Given the description of an element on the screen output the (x, y) to click on. 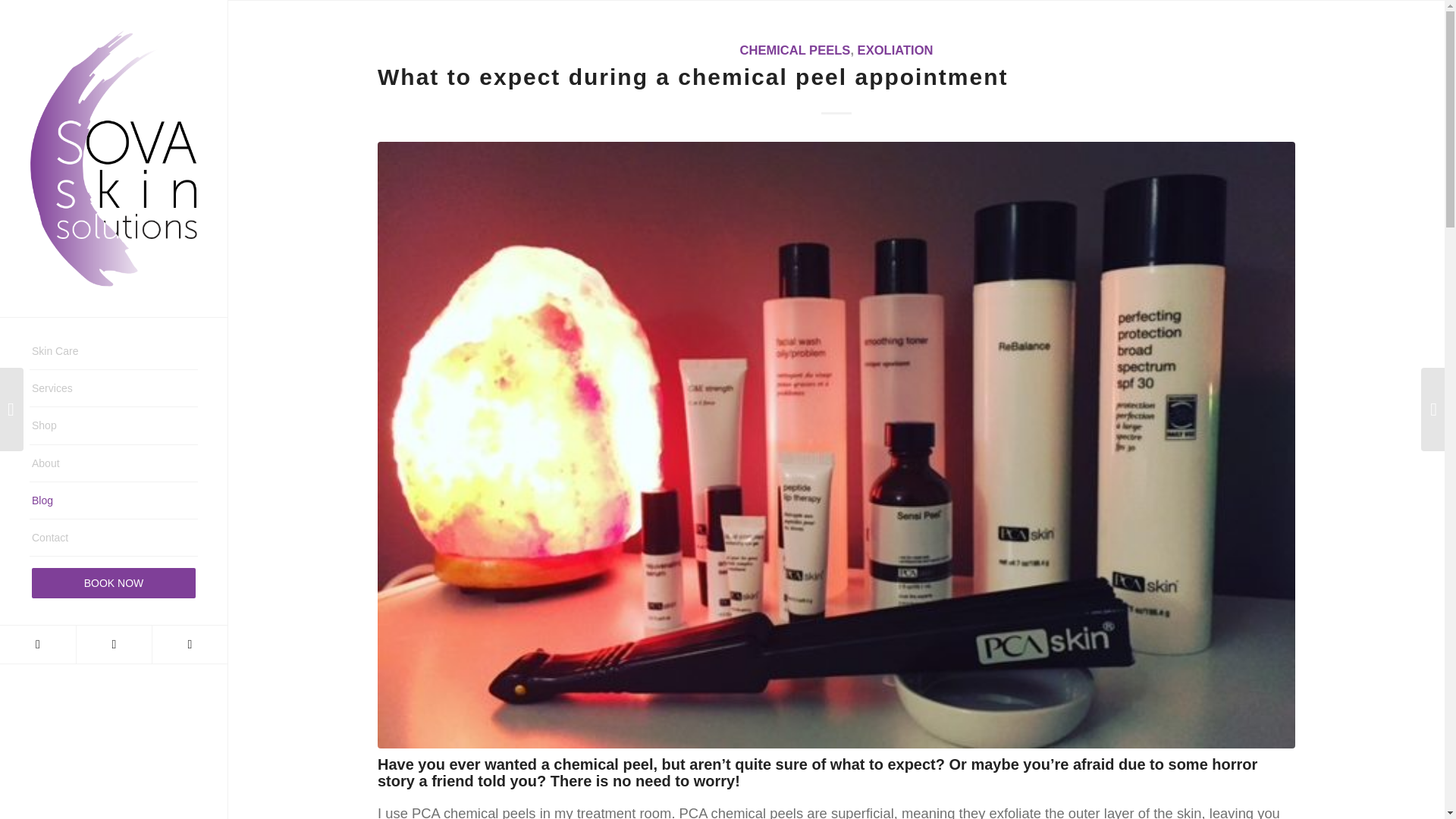
Twitter (189, 644)
Shop (113, 425)
EXOLIATION (895, 50)
Instagram (113, 644)
CHEMICAL PEELS (794, 50)
About (113, 462)
Contact (113, 537)
Skin Care (113, 351)
BOOK NOW (113, 582)
Blog (113, 500)
